Given the description of an element on the screen output the (x, y) to click on. 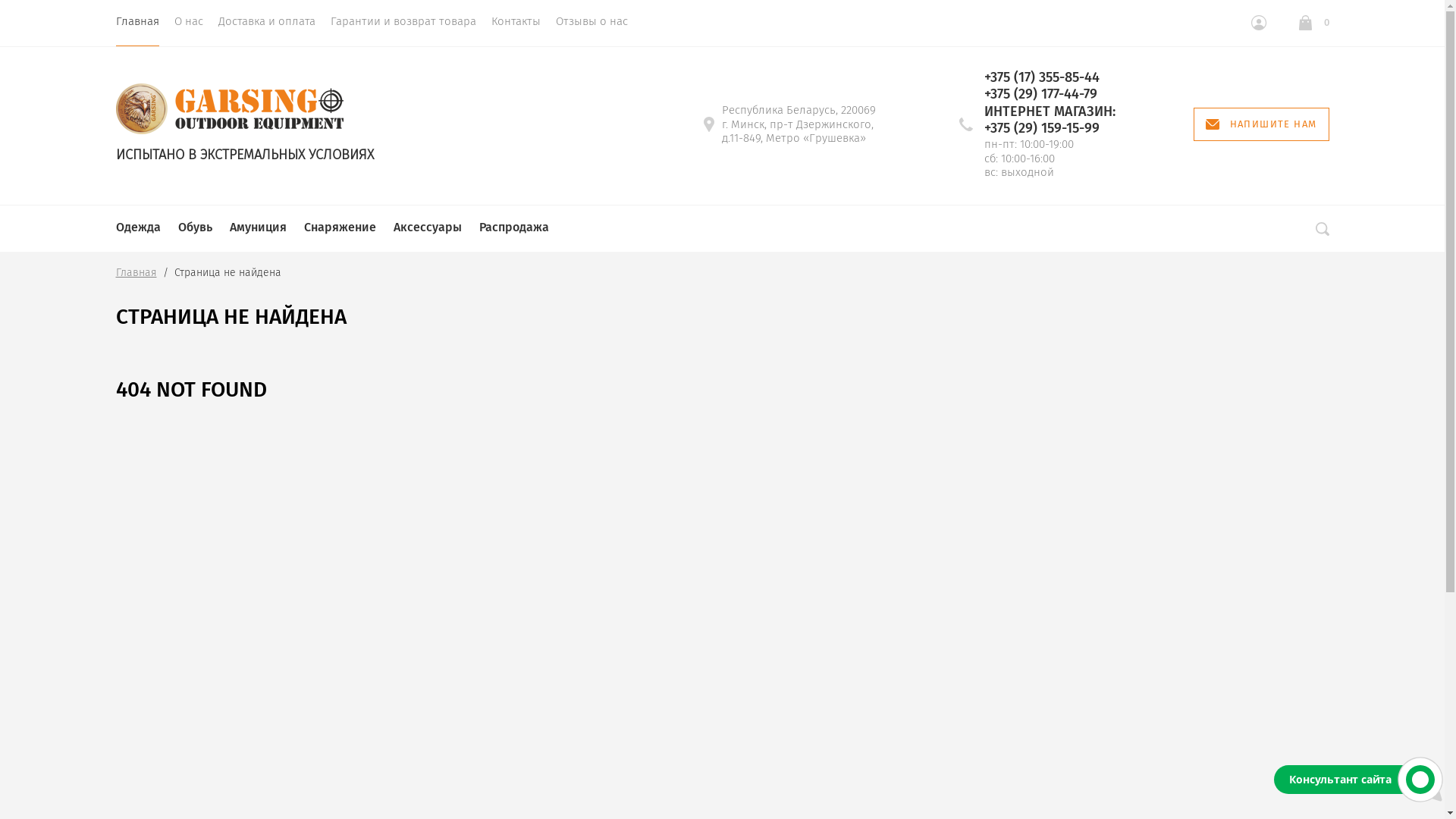
+375 (17) 355-85-44 Element type: text (1049, 77)
+375 (29) 177-44-79 Element type: text (1049, 94)
+375 (29) 159-15-99 Element type: text (1049, 128)
